Given the description of an element on the screen output the (x, y) to click on. 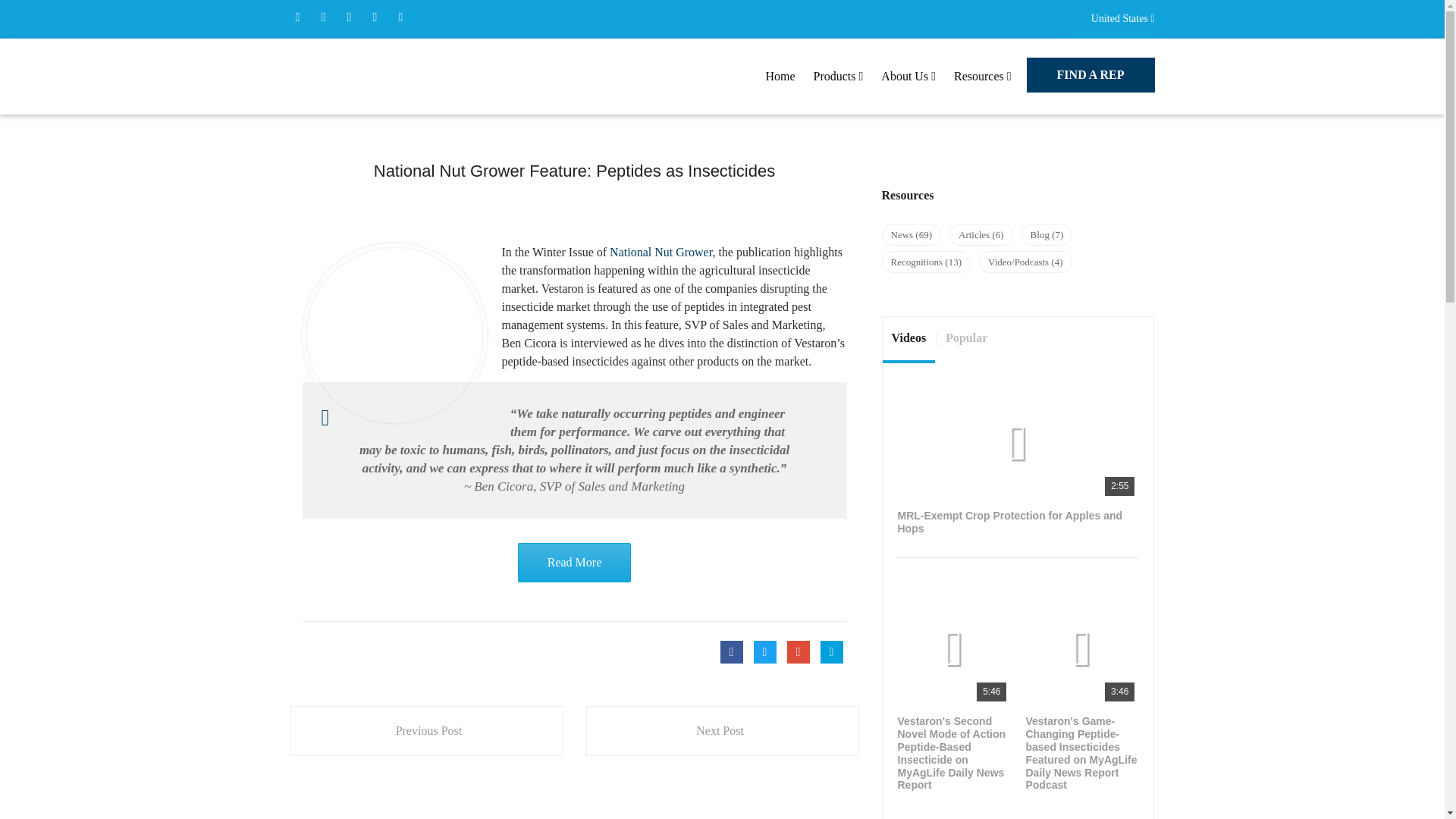
Vestaron (365, 76)
Share on Twitter! (765, 651)
Share on Facebook! (731, 651)
FIND A REP (1090, 74)
Youtube (348, 17)
United States (1109, 18)
linkedIn (373, 17)
Products (838, 76)
facebook (296, 17)
Home (779, 76)
About Us (908, 76)
instagram (400, 17)
twitter (322, 17)
S (393, 335)
Share on Linkedin! (832, 651)
